Given the description of an element on the screen output the (x, y) to click on. 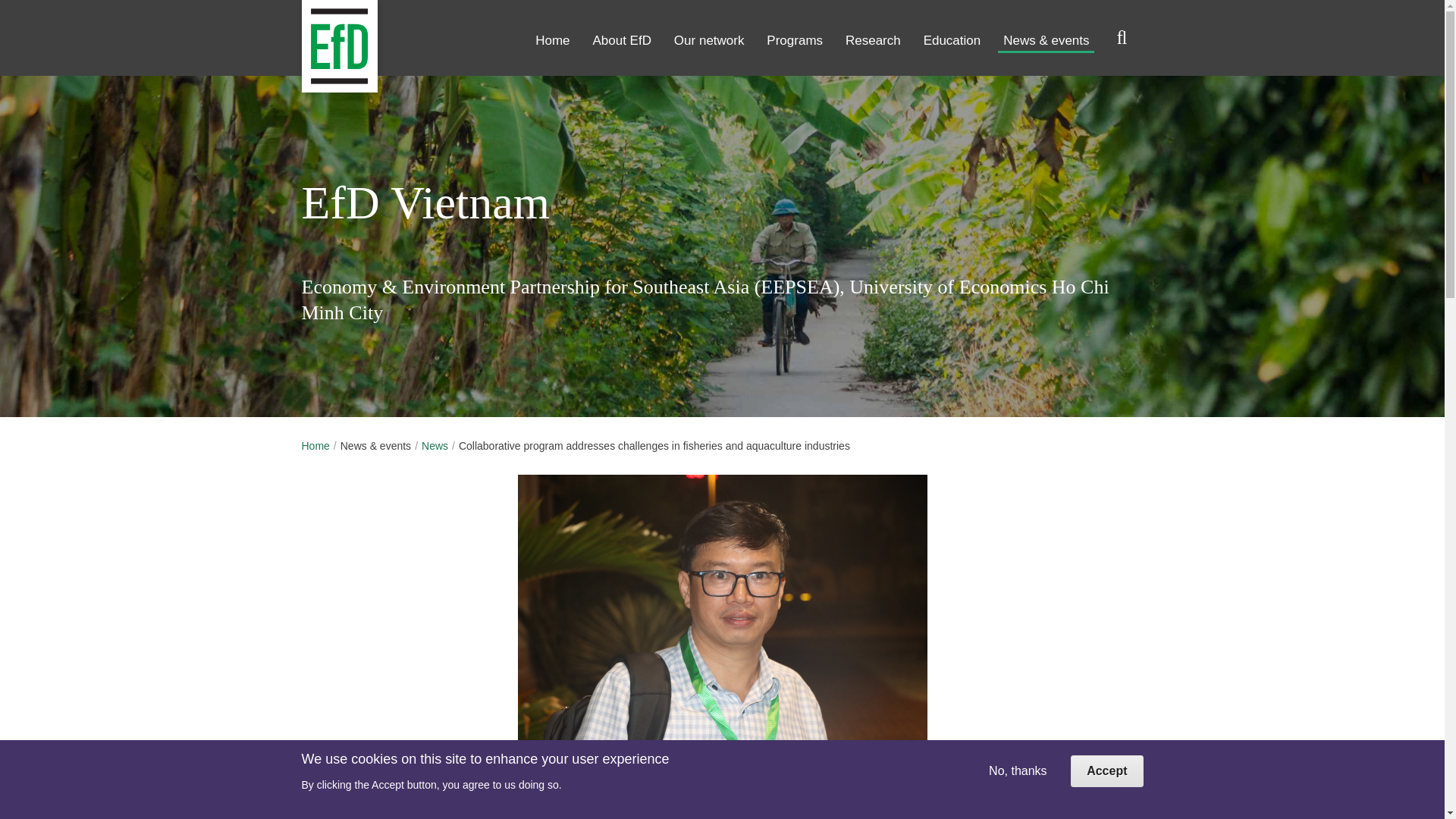
Home (303, 37)
Ho Quoc Thong. Photo: Petra Hansson (721, 611)
